Given the description of an element on the screen output the (x, y) to click on. 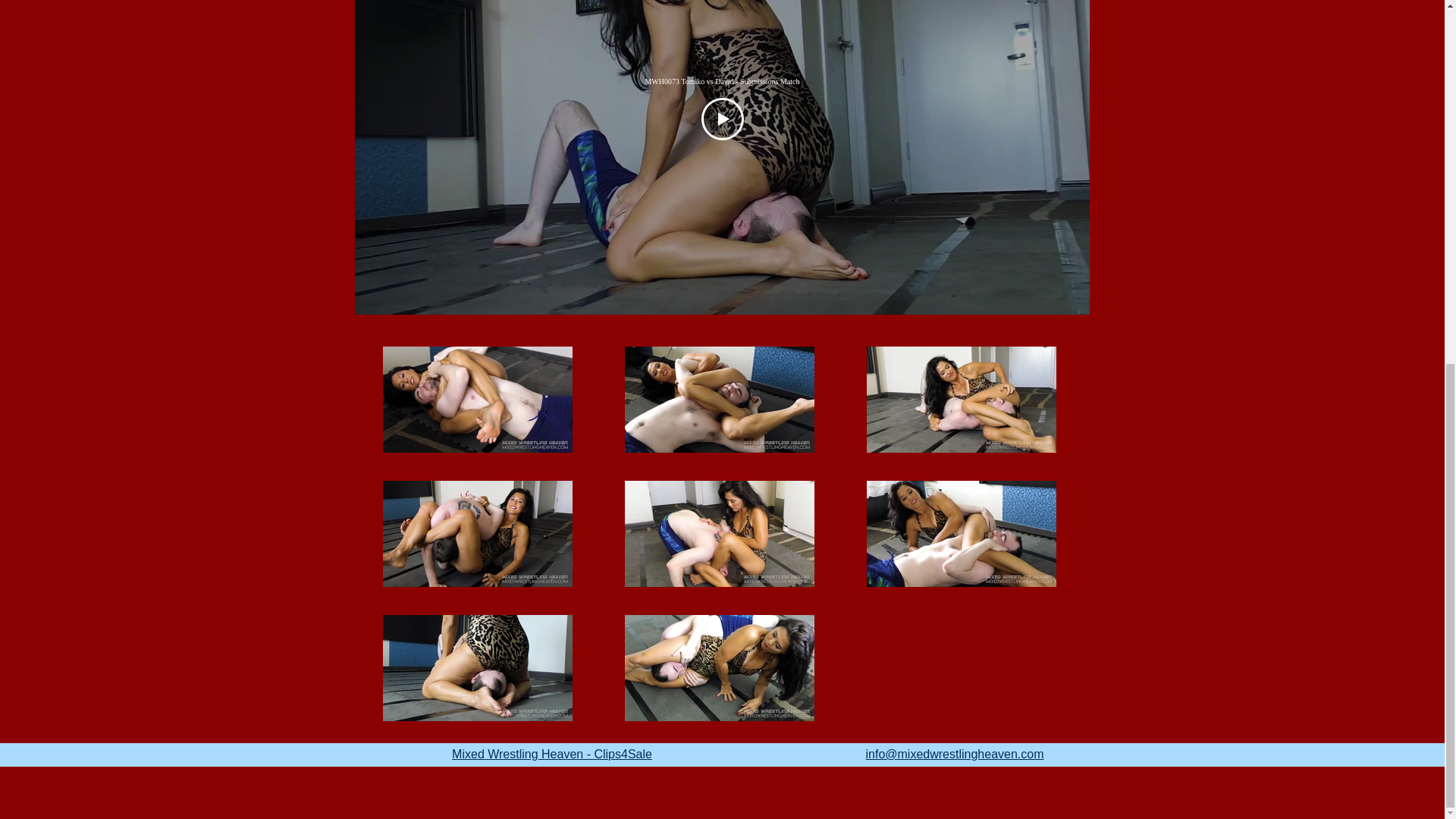
MWH0073 Tomiko vs David - Submissions Match (722, 81)
Mixed Wrestling Heaven - Clips4Sale (551, 753)
